Given the description of an element on the screen output the (x, y) to click on. 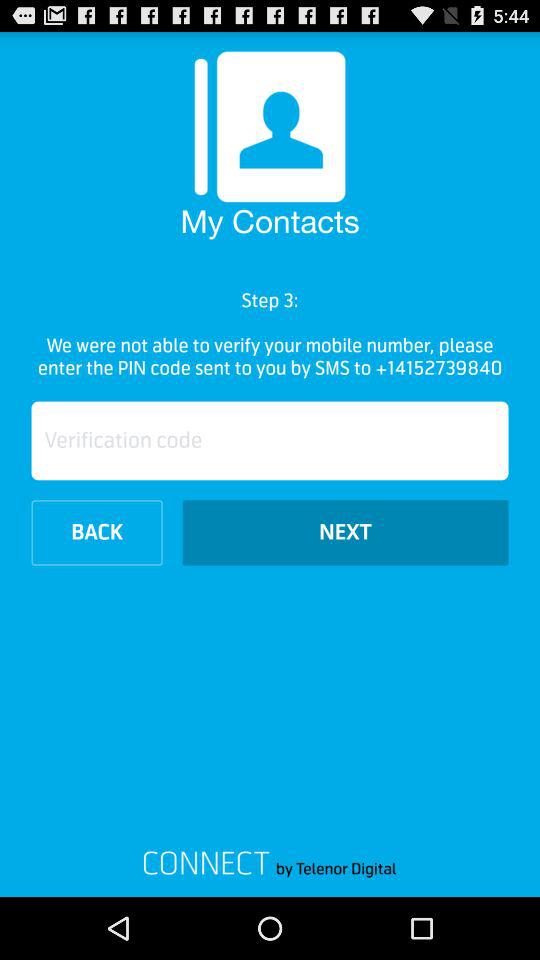
select the icon next to the back item (345, 532)
